Given the description of an element on the screen output the (x, y) to click on. 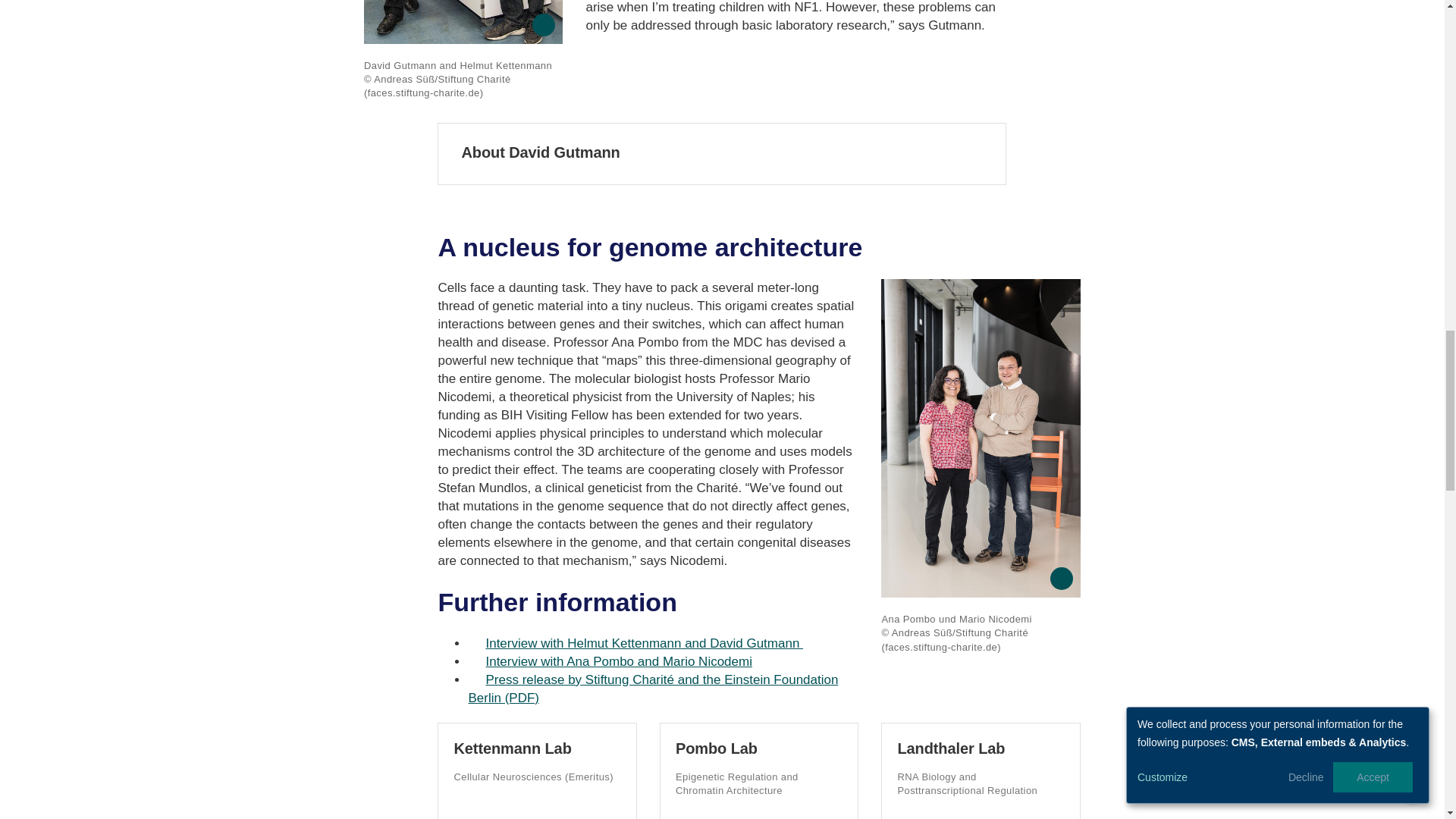
Click to enlarge (463, 22)
